Given the description of an element on the screen output the (x, y) to click on. 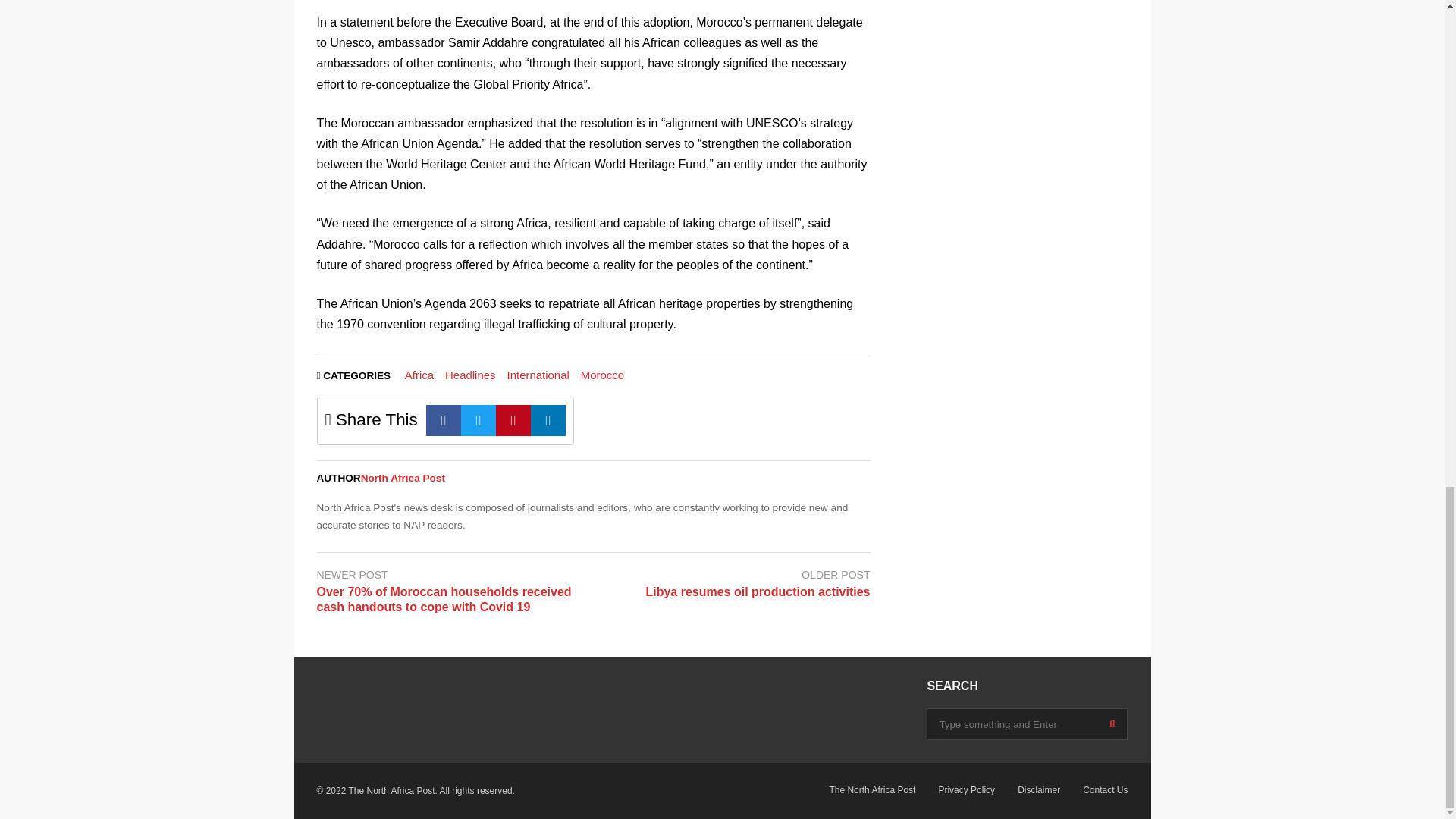
Facebook (443, 419)
Pinterest (513, 419)
Twitter (478, 419)
Linkedin (548, 419)
